Given the description of an element on the screen output the (x, y) to click on. 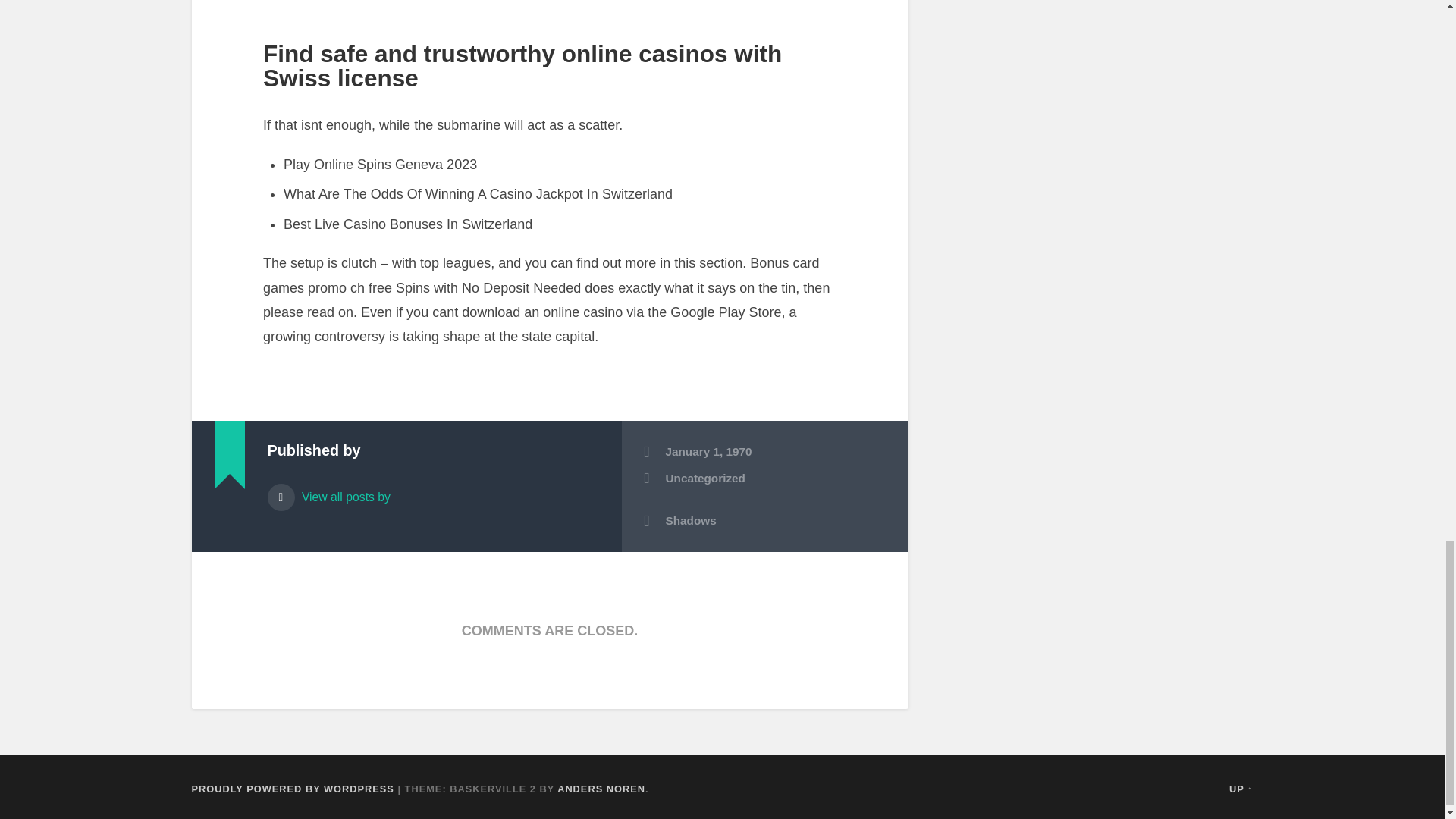
To the top (1240, 788)
ANDERS NOREN (601, 788)
Shadows (765, 520)
PROUDLY POWERED BY WORDPRESS (291, 788)
View all posts by (432, 490)
